Given the description of an element on the screen output the (x, y) to click on. 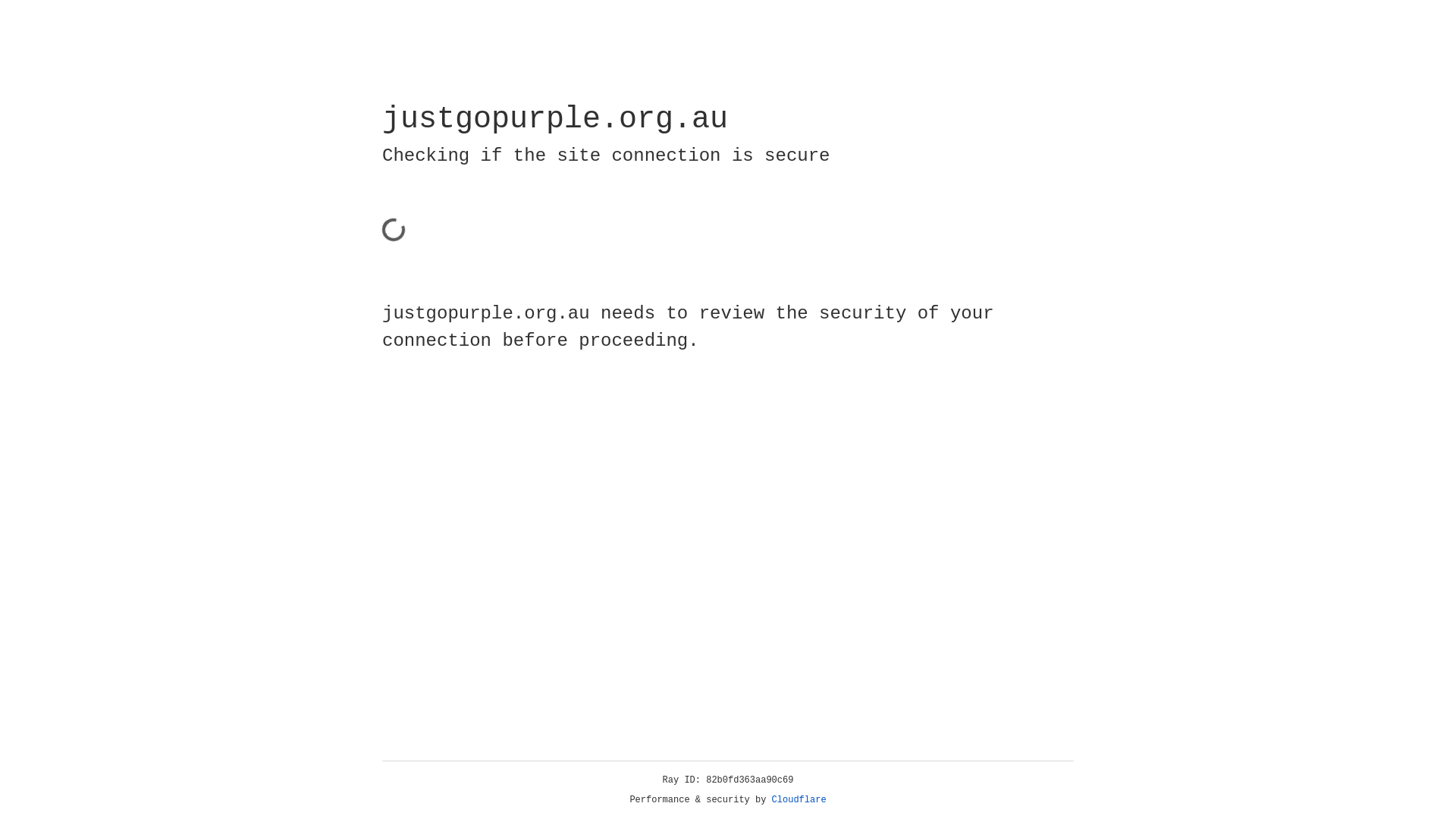
Cloudflare Element type: text (798, 799)
